Given the description of an element on the screen output the (x, y) to click on. 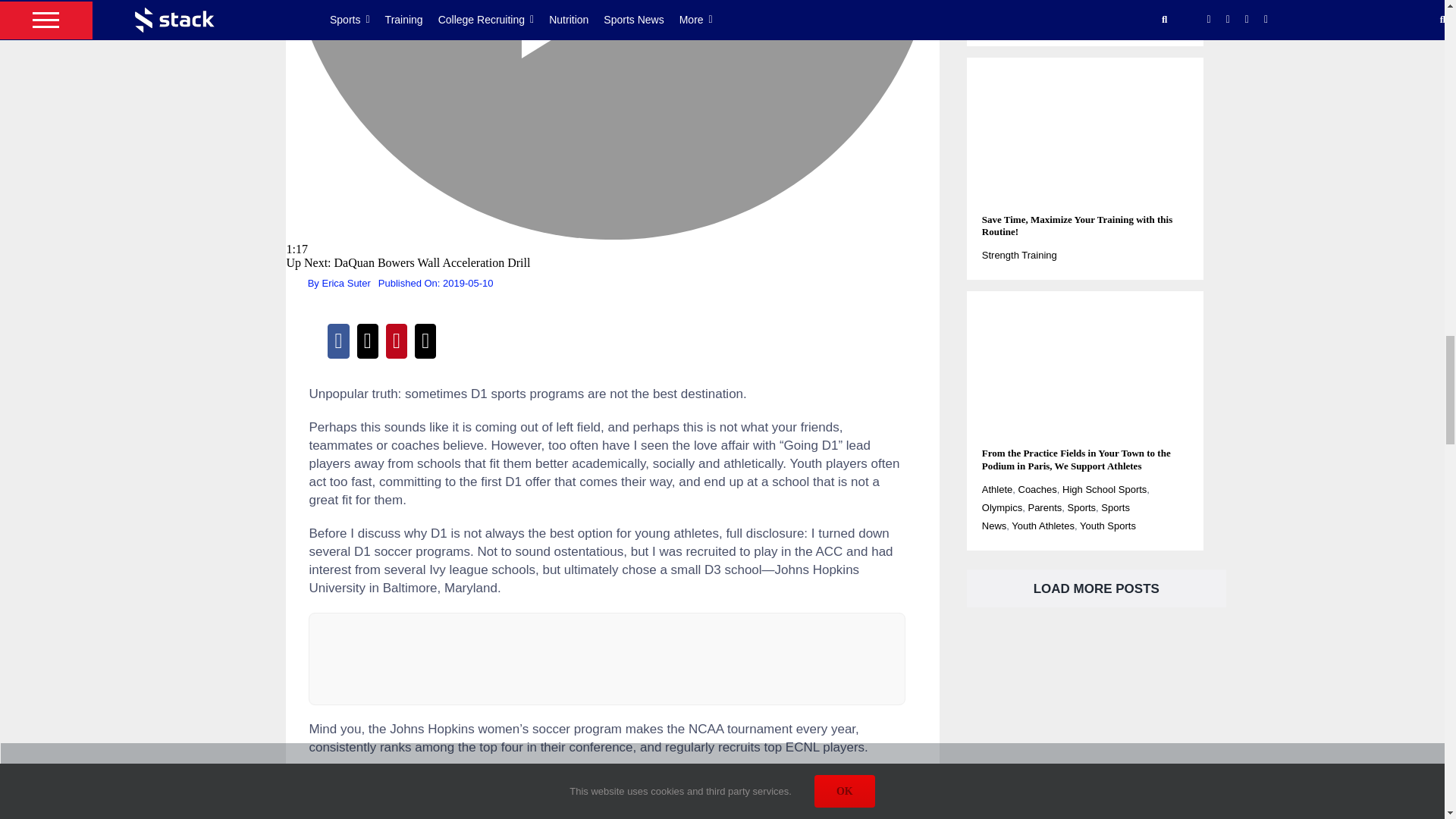
3rd party ad content (607, 658)
Posts by Erica Suter (345, 283)
